Given the description of an element on the screen output the (x, y) to click on. 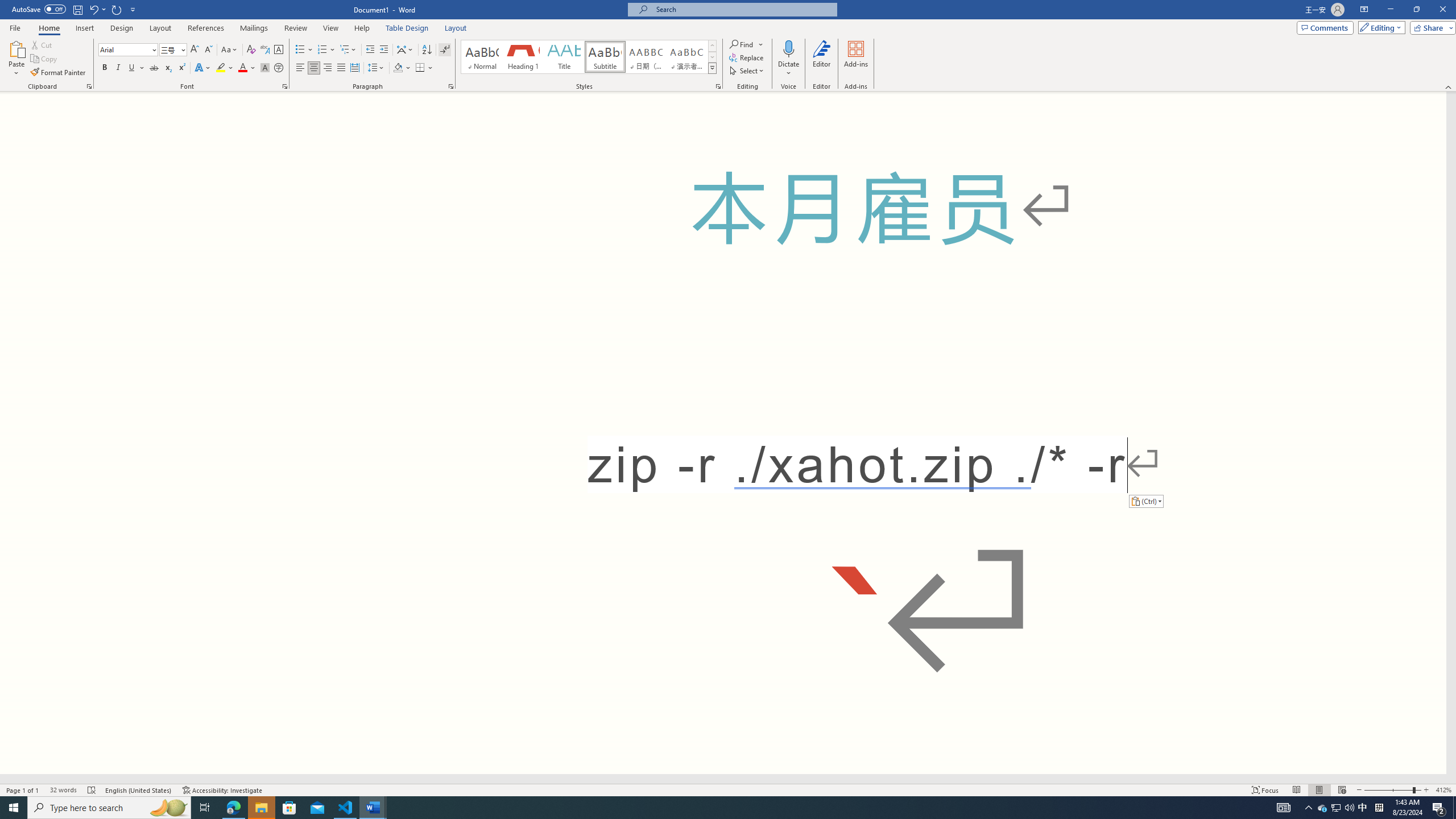
Heading 1 (522, 56)
